Given the description of an element on the screen output the (x, y) to click on. 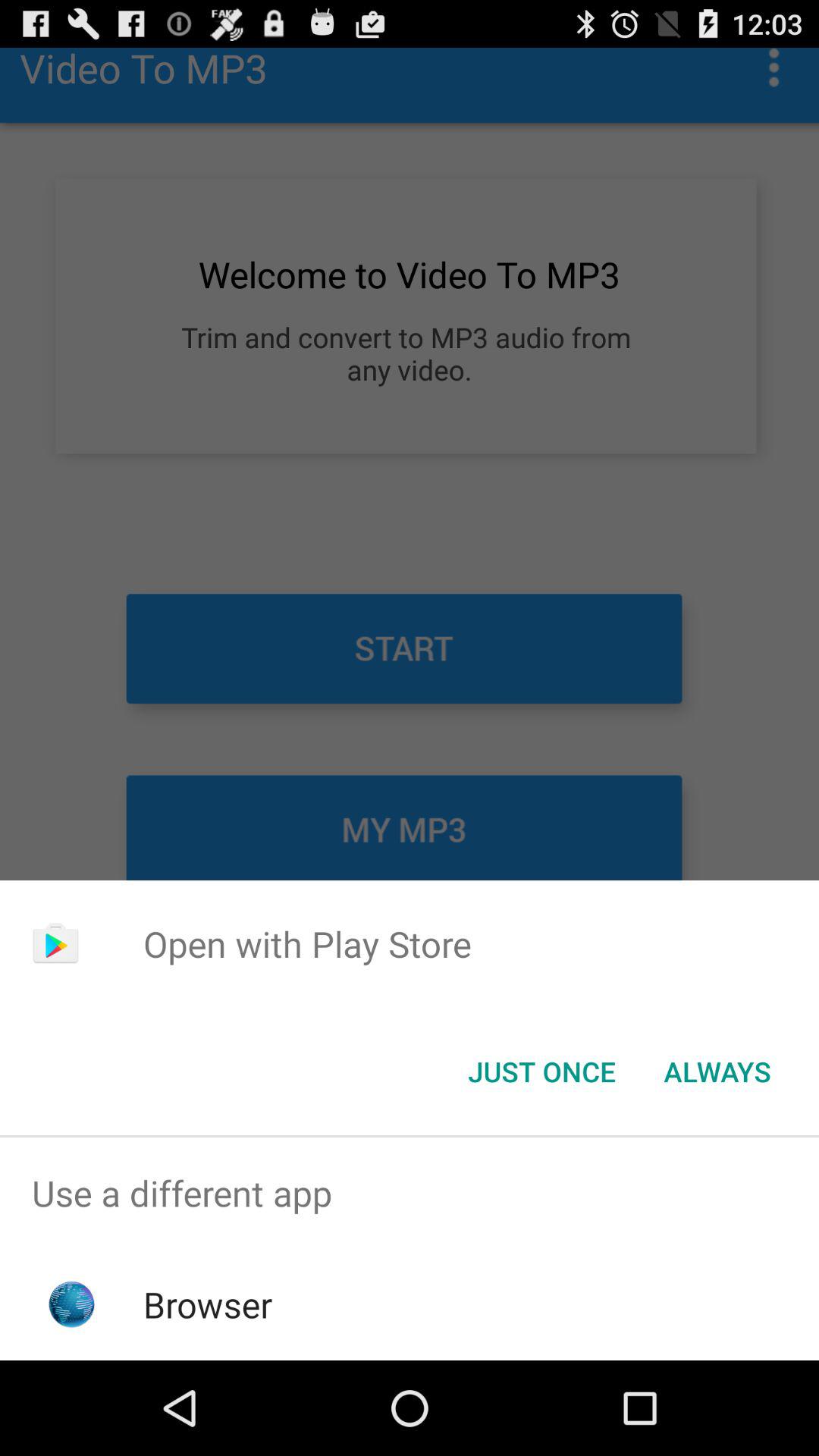
select the use a different (409, 1192)
